Given the description of an element on the screen output the (x, y) to click on. 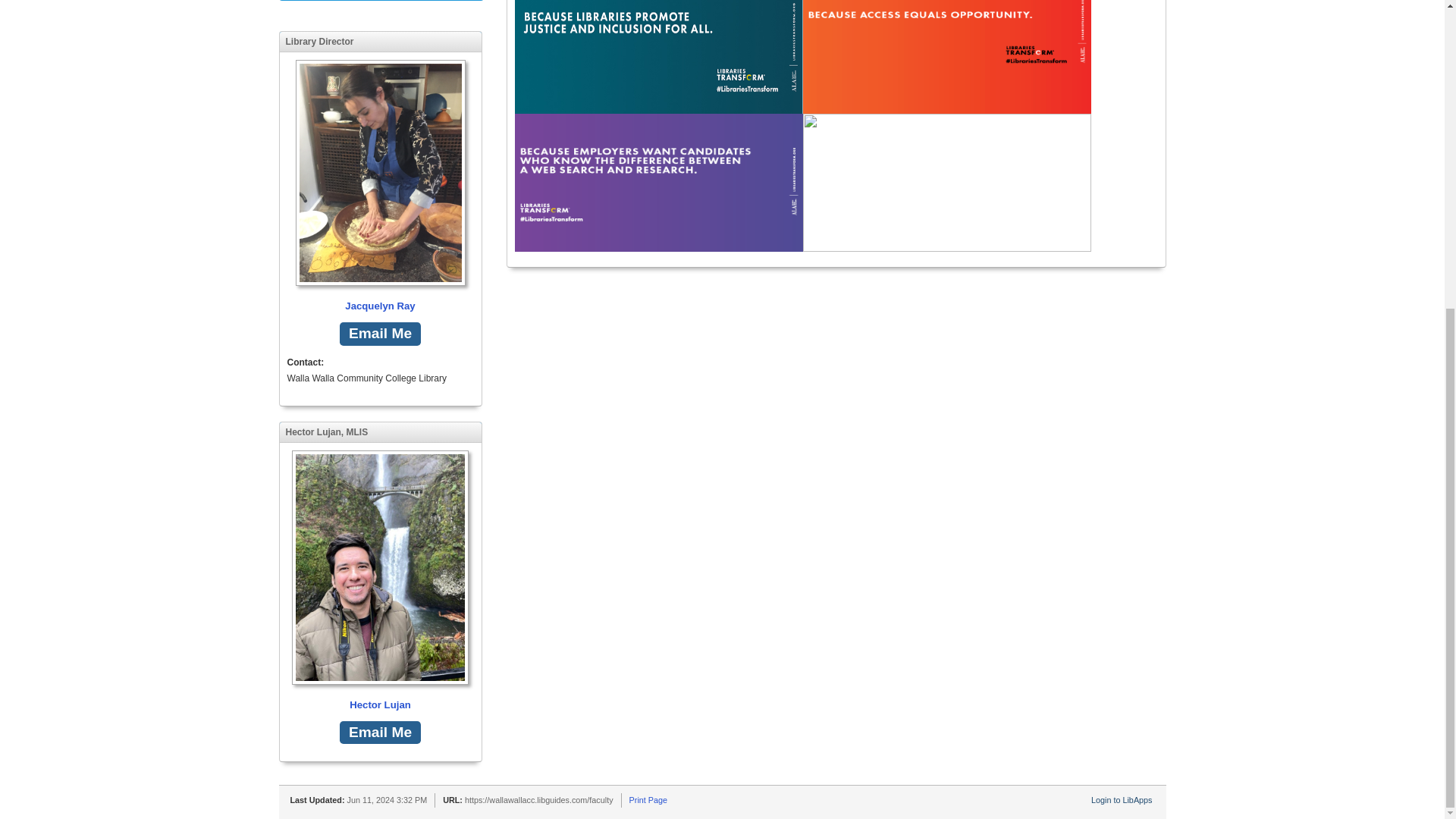
Email Me (379, 732)
Email Me (379, 333)
Login to LibApps (1120, 799)
Print Page (647, 799)
